Given the description of an element on the screen output the (x, y) to click on. 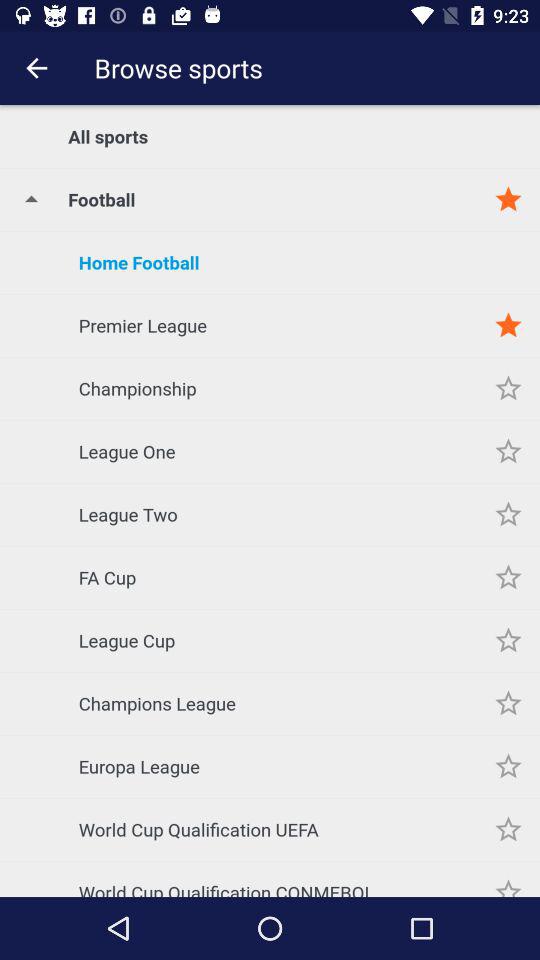
add sport to favorites (508, 703)
